Given the description of an element on the screen output the (x, y) to click on. 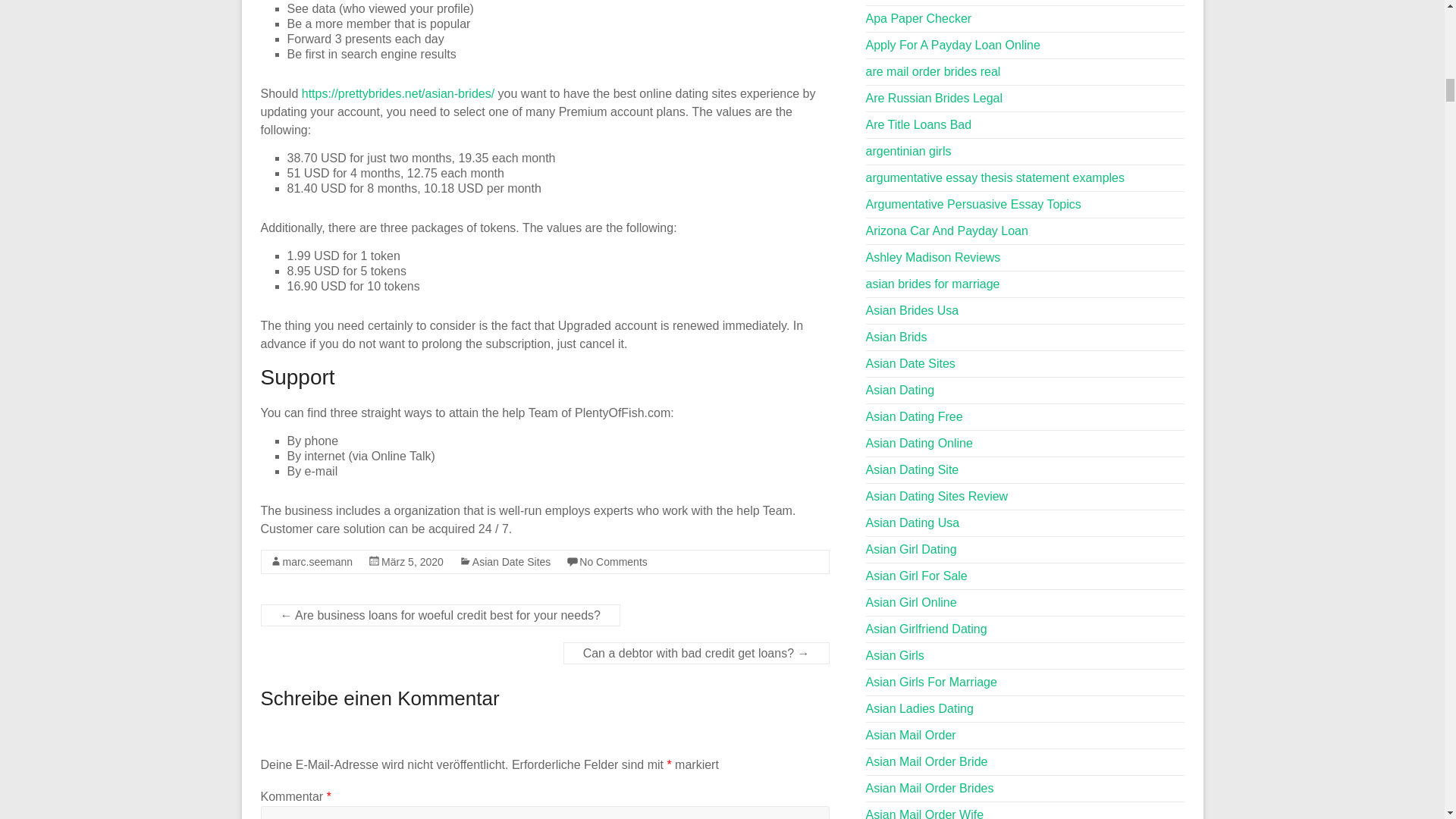
Asian Date Sites (511, 562)
marc.seemann (317, 562)
10:48 pm (412, 562)
No Comments (612, 562)
